Given the description of an element on the screen output the (x, y) to click on. 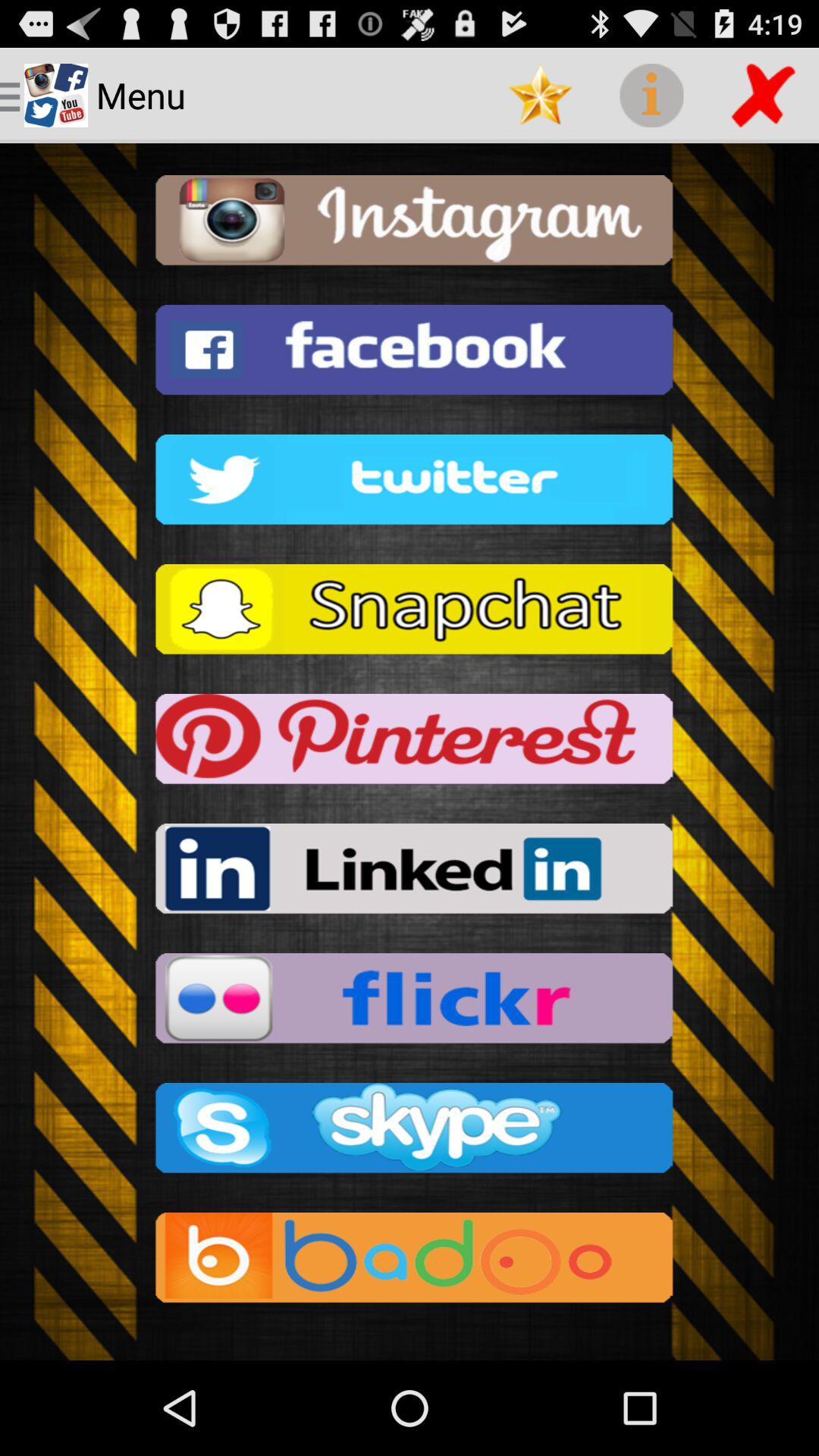
turn off app to the right of the menu item (540, 95)
